Given the description of an element on the screen output the (x, y) to click on. 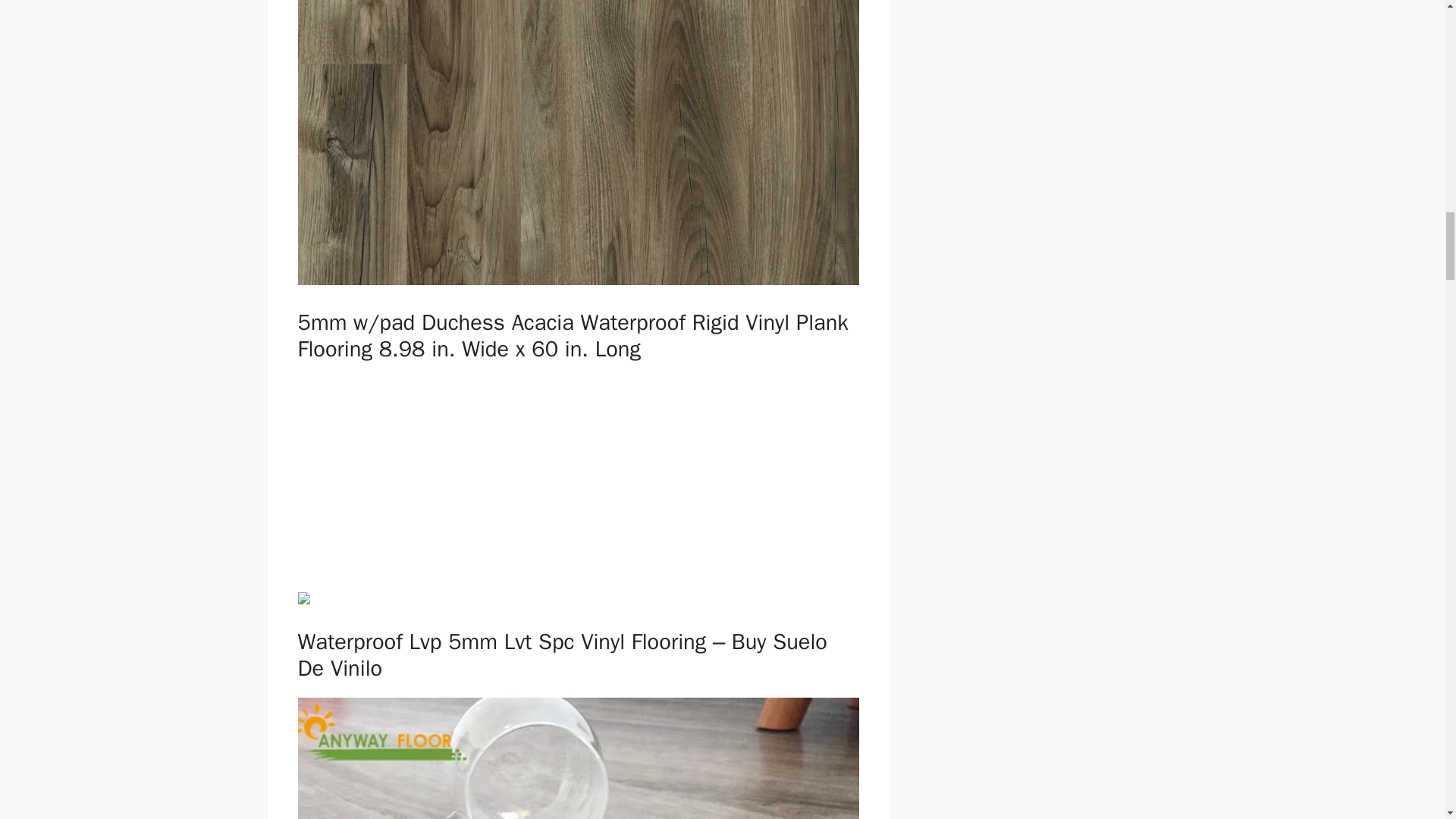
Advertisement (578, 484)
